Given the description of an element on the screen output the (x, y) to click on. 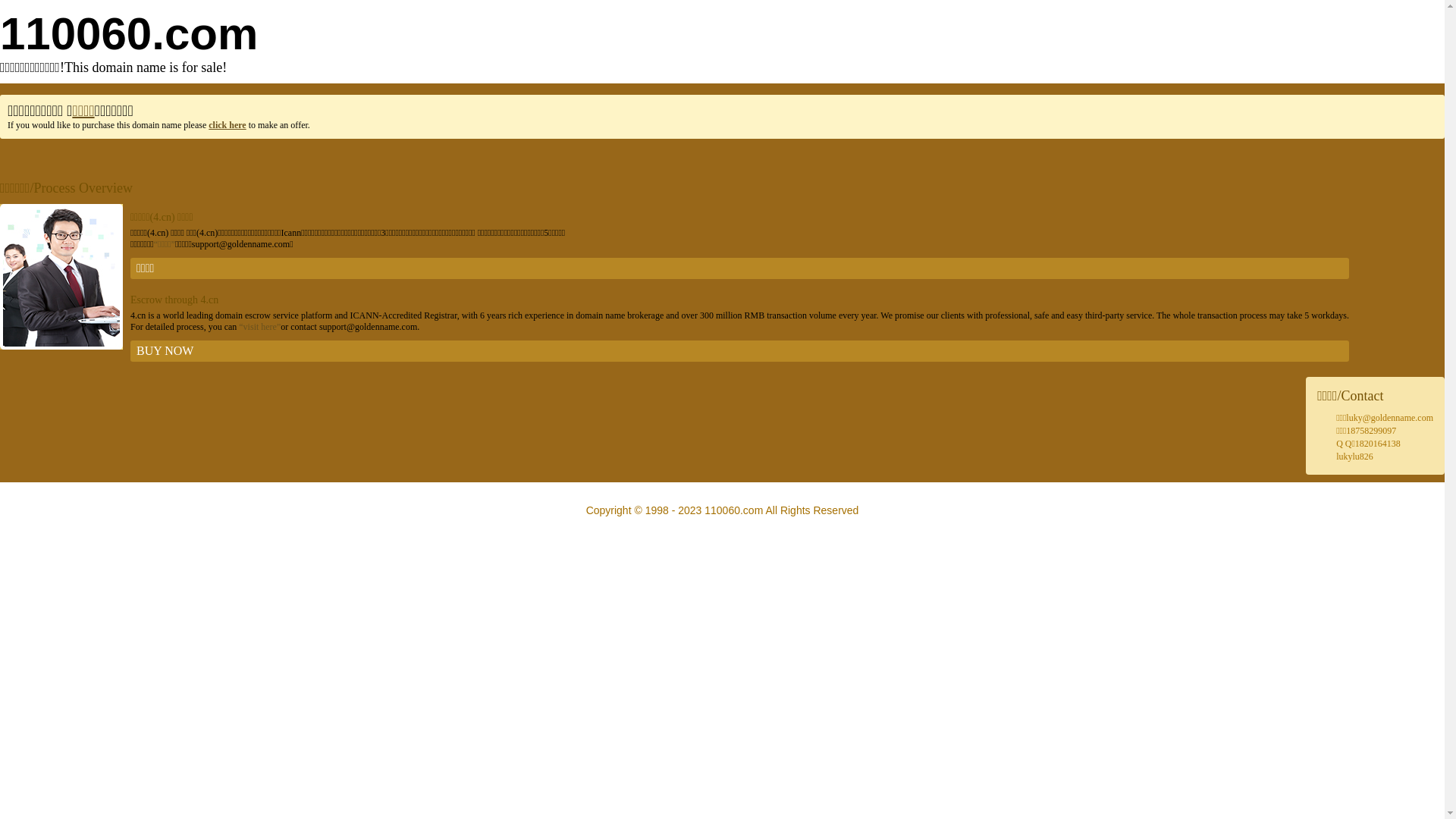
BUY NOW Element type: text (739, 350)
click here Element type: text (226, 124)
